Given the description of an element on the screen output the (x, y) to click on. 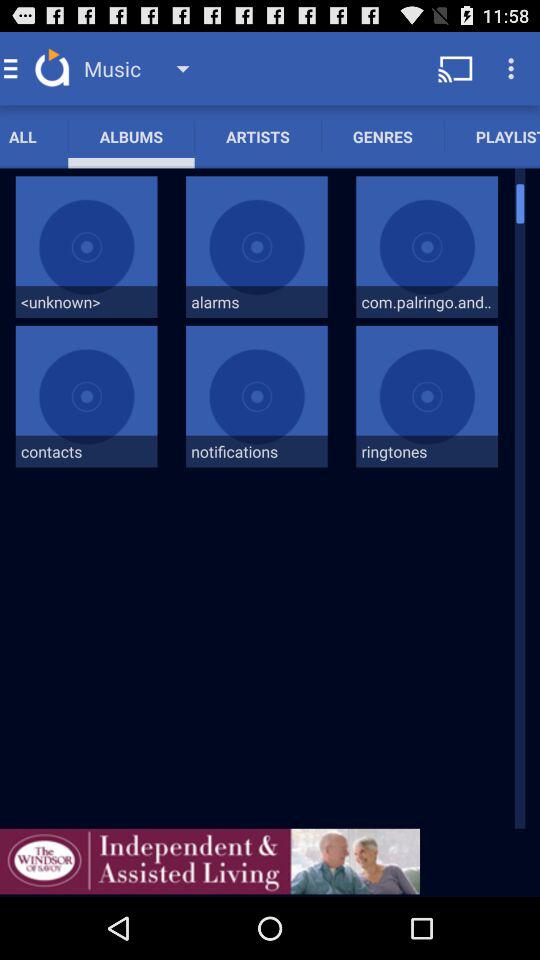
show advertisements detail (210, 861)
